Given the description of an element on the screen output the (x, y) to click on. 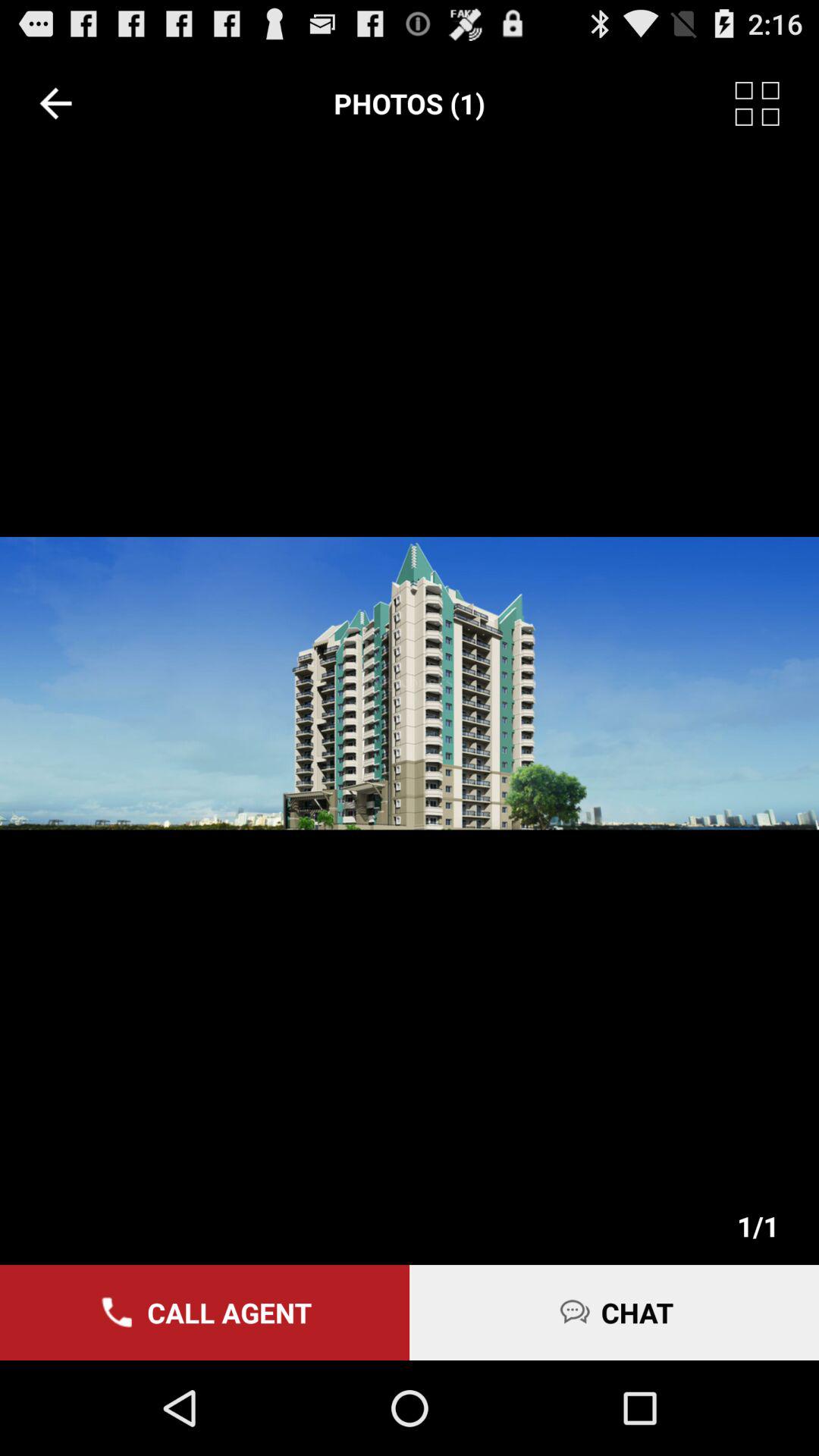
view gallery button (777, 103)
